Given the description of an element on the screen output the (x, y) to click on. 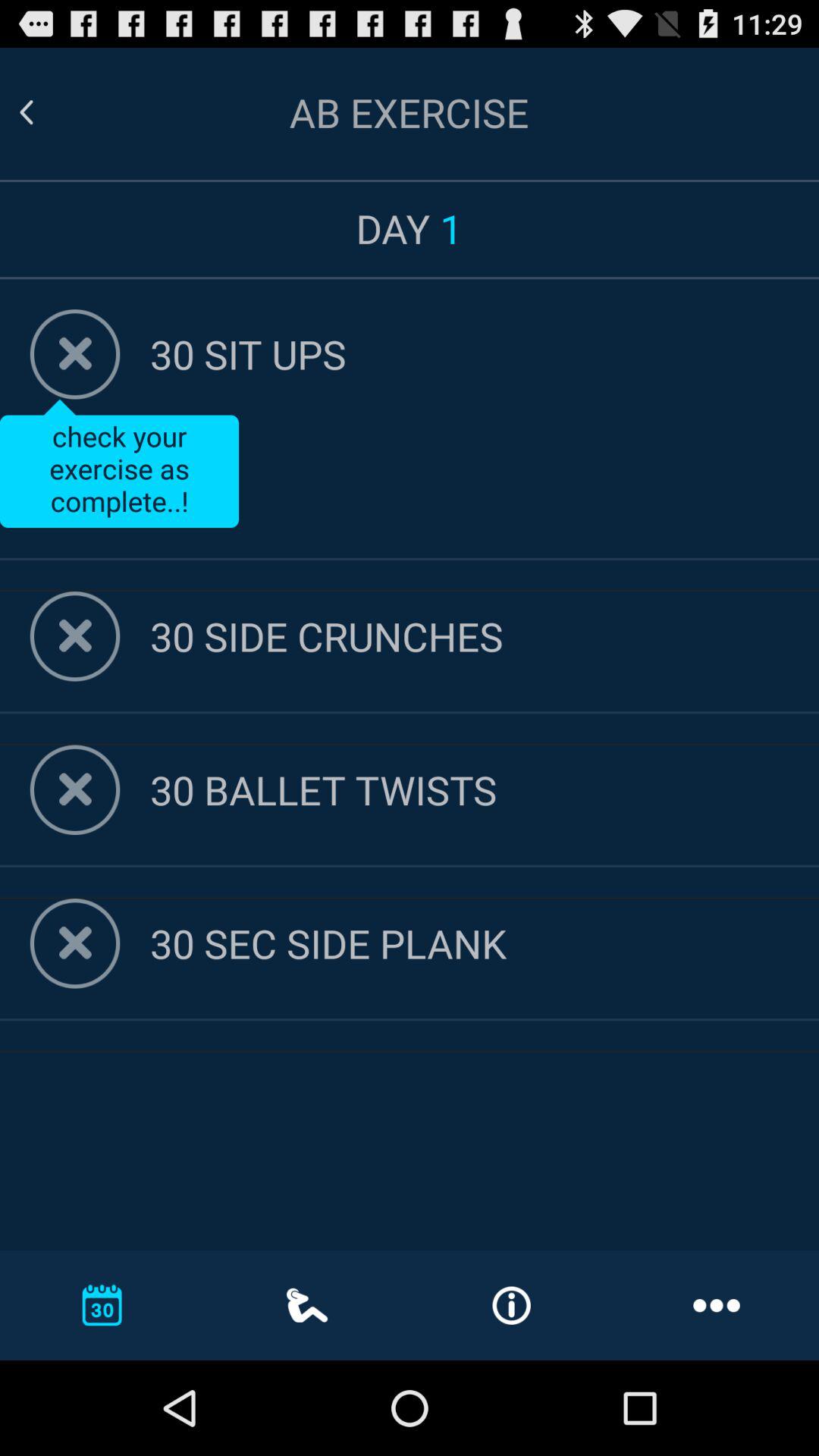
jump to check your exercise (119, 463)
